Given the description of an element on the screen output the (x, y) to click on. 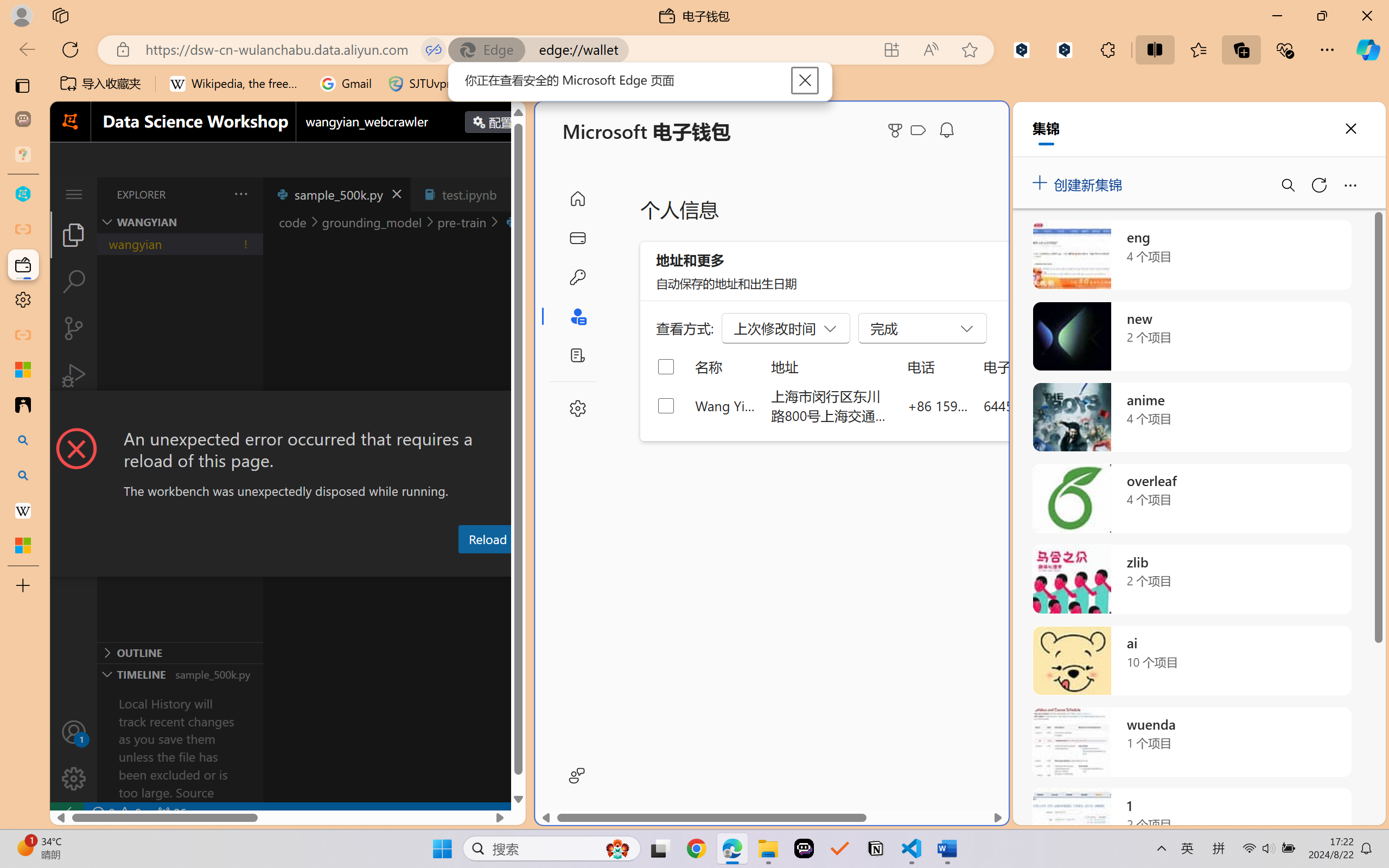
Debug Console (Ctrl+Shift+Y) (463, 565)
Tab actions (512, 194)
wangyian_dsw - DSW (22, 194)
Wikipedia, the free encyclopedia (236, 83)
Class: actions-container (287, 410)
